Given the description of an element on the screen output the (x, y) to click on. 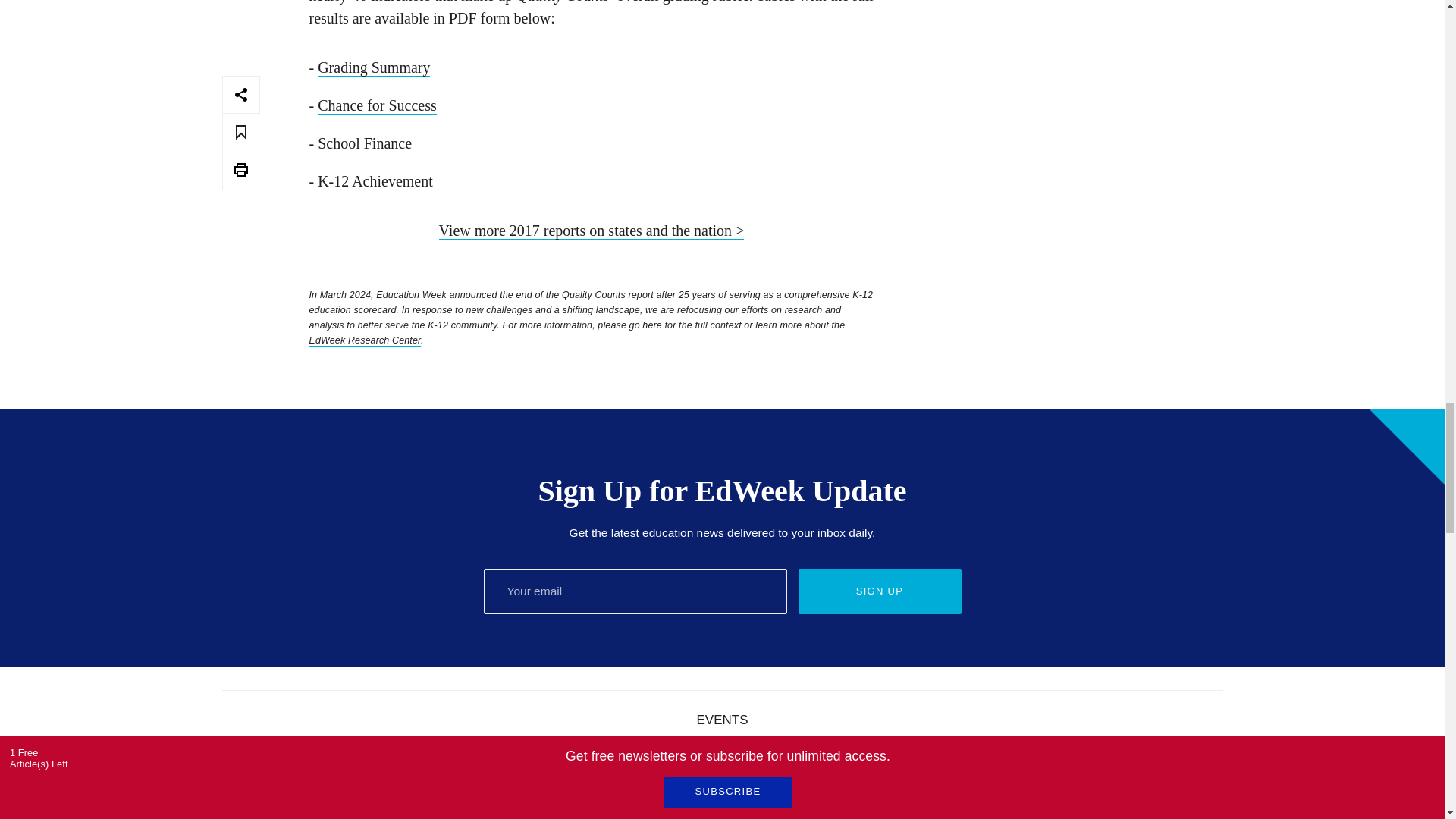
3rd party ad content (1070, 18)
